Given the description of an element on the screen output the (x, y) to click on. 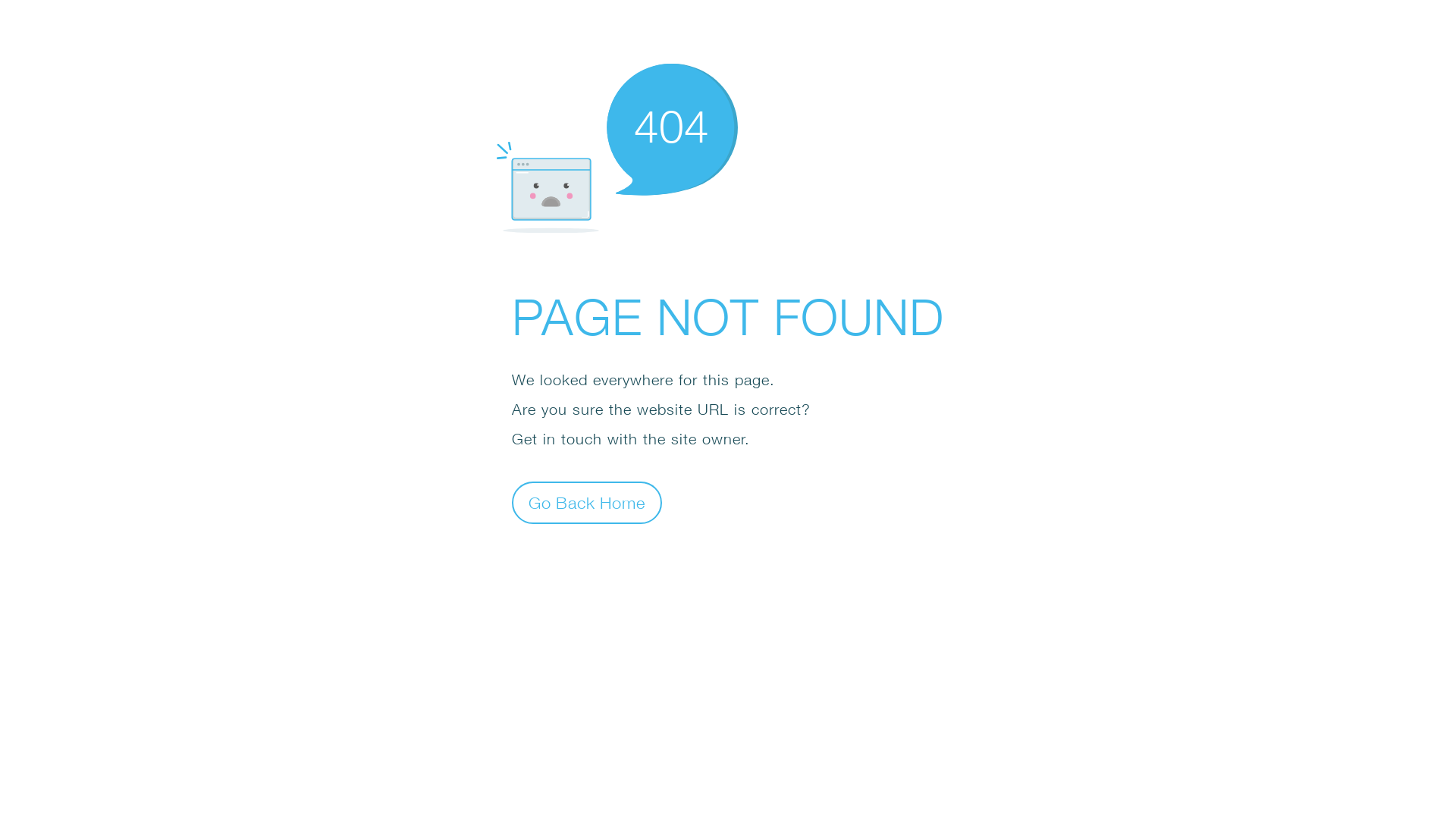
Go Back Home Element type: text (586, 502)
